Given the description of an element on the screen output the (x, y) to click on. 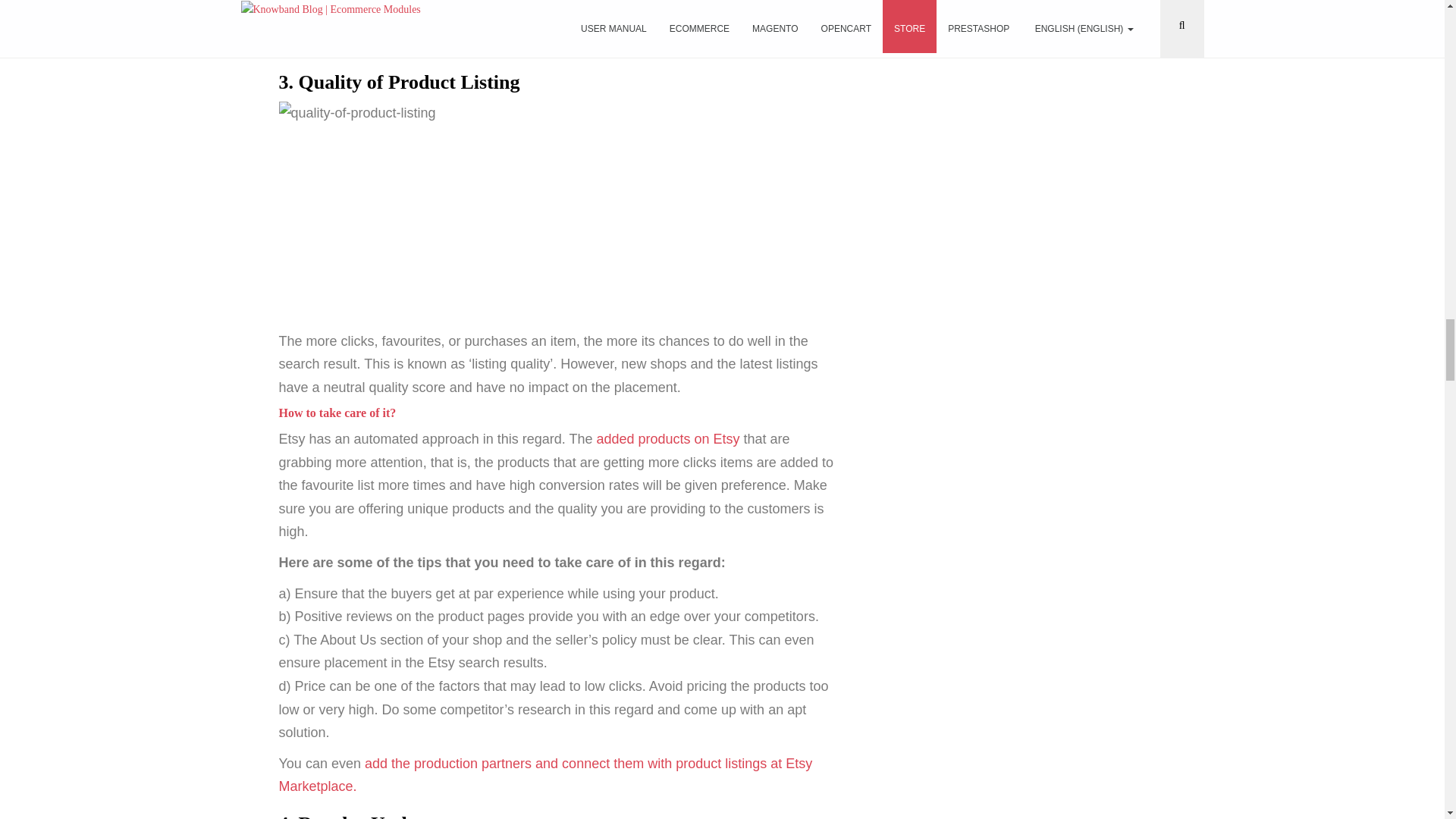
added products on Etsy (667, 438)
integrating their eCommerce store with Etsy Marketplace (468, 45)
